Given the description of an element on the screen output the (x, y) to click on. 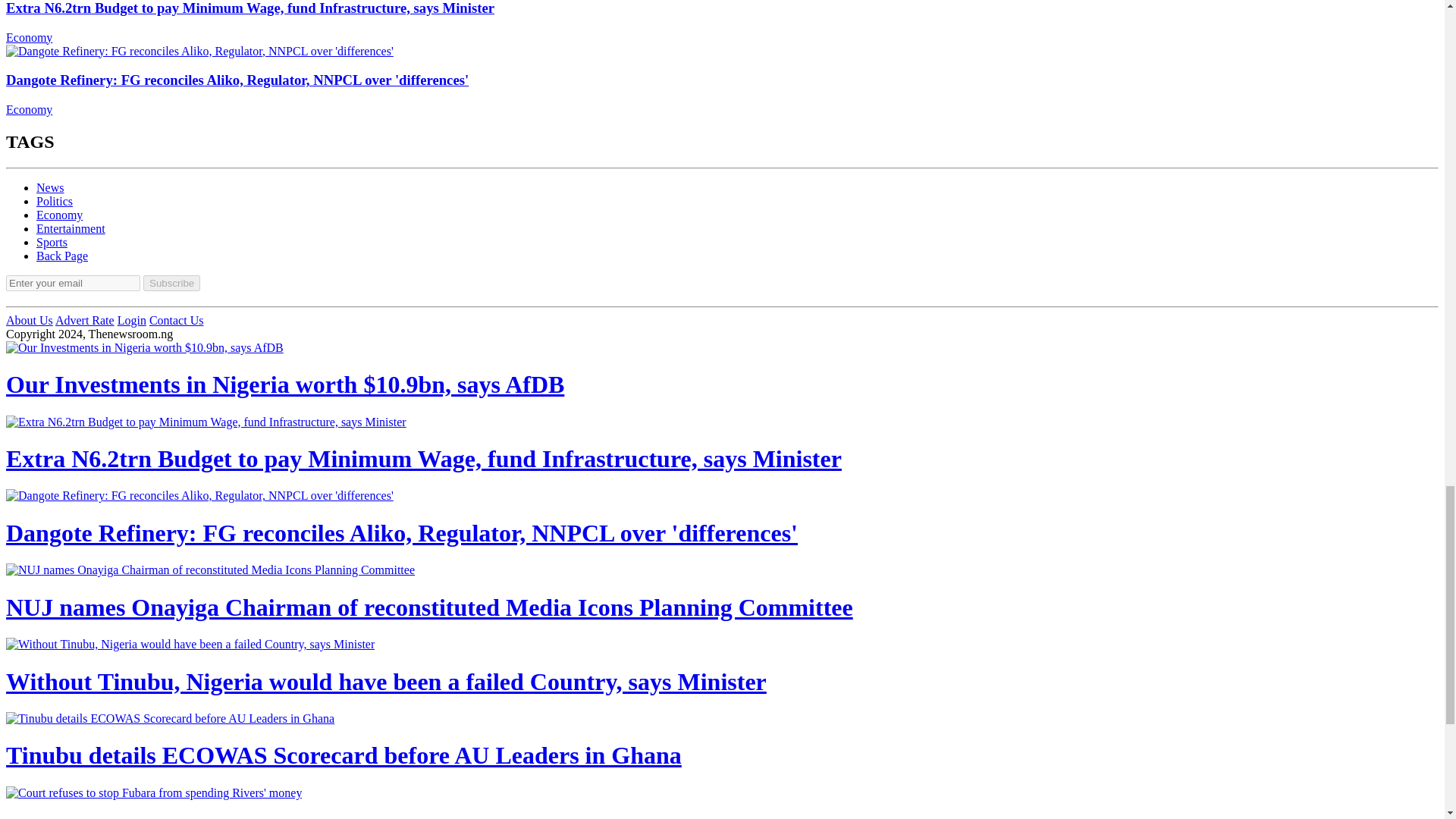
Sports (51, 241)
Entertainment (70, 228)
Politics (54, 201)
Economy (59, 214)
News (50, 187)
